Given the description of an element on the screen output the (x, y) to click on. 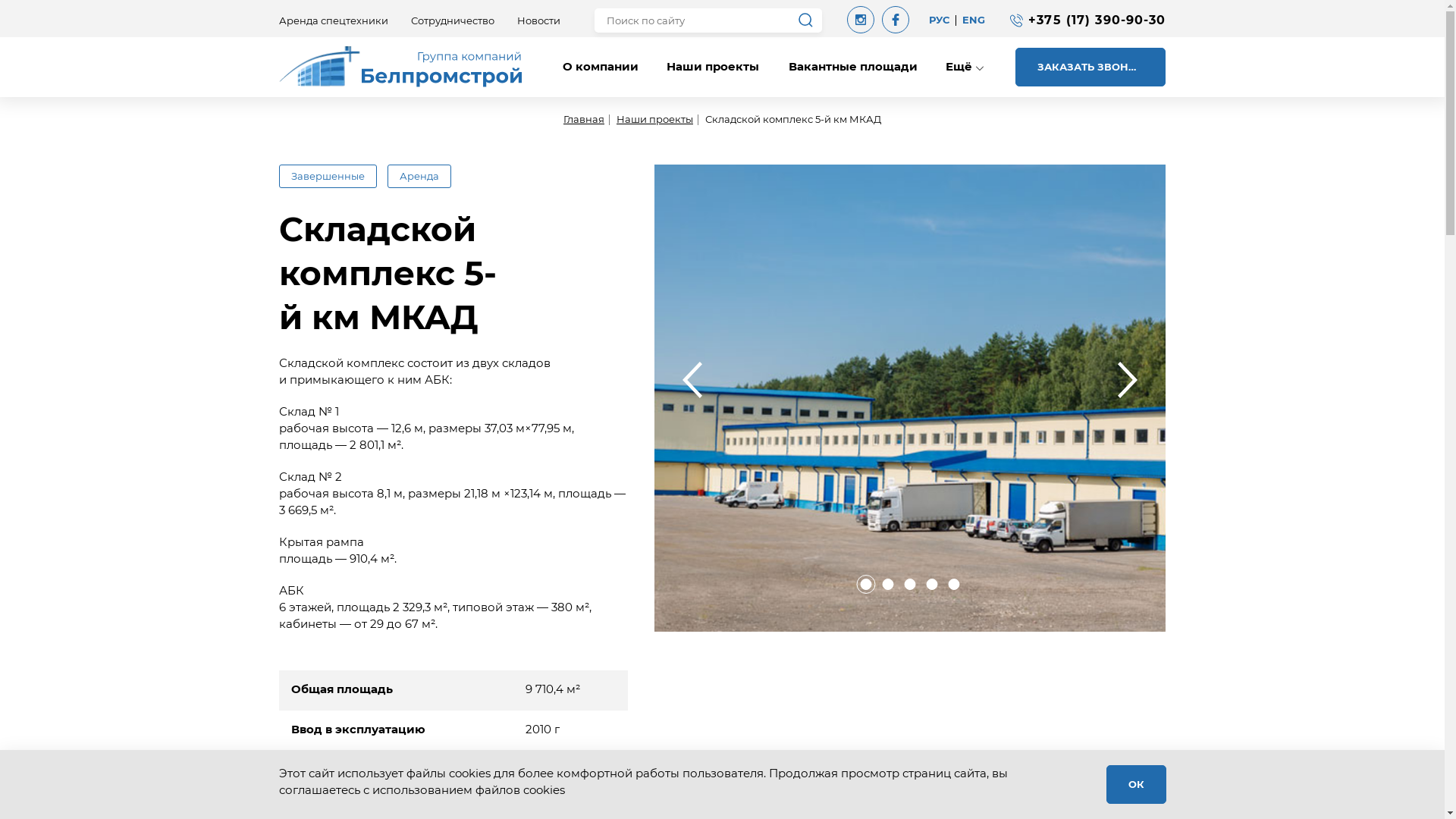
+375 (17) 390-90-30 Element type: text (1096, 19)
